Given the description of an element on the screen output the (x, y) to click on. 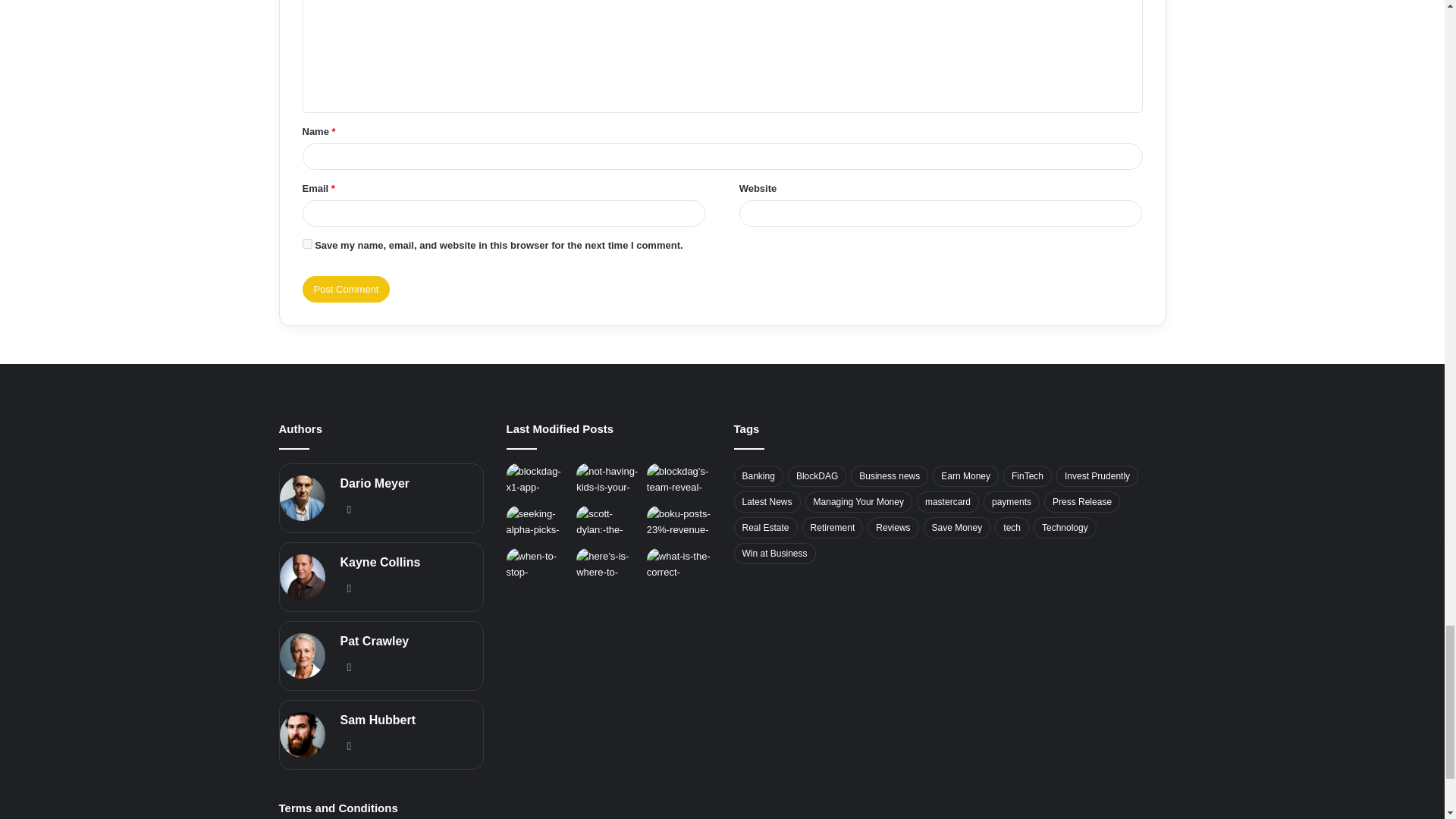
yes (306, 243)
Post Comment (345, 289)
